Given the description of an element on the screen output the (x, y) to click on. 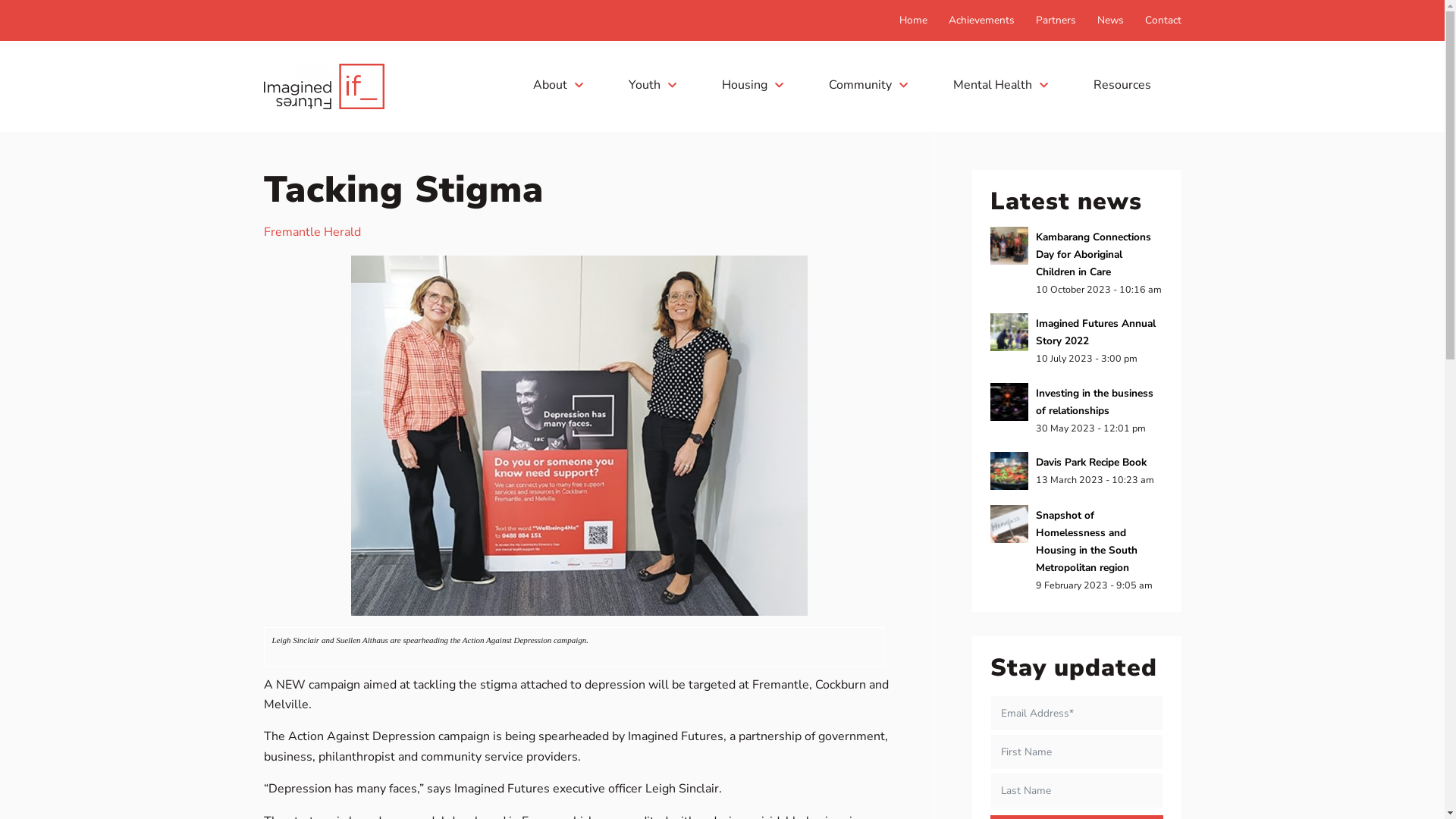
News Element type: text (1109, 19)
Partners Element type: text (1055, 19)
Housing Element type: text (752, 84)
Resources Element type: text (1125, 84)
Picture2 Element type: hover (579, 435)
Mental Health Element type: text (999, 84)
Community Element type: text (867, 84)
Davis Park Recipe Book
13 March 2023 - 10:23 am Element type: text (1076, 470)
Imagined Futures Annual Story 2022
10 July 2023 - 3:00 pm Element type: text (1076, 340)
Fremantle Herald Element type: text (311, 231)
Youth Element type: text (651, 84)
About Element type: text (557, 84)
Home Element type: text (913, 19)
Achievements Element type: text (980, 19)
Contact Element type: text (1163, 19)
